Given the description of an element on the screen output the (x, y) to click on. 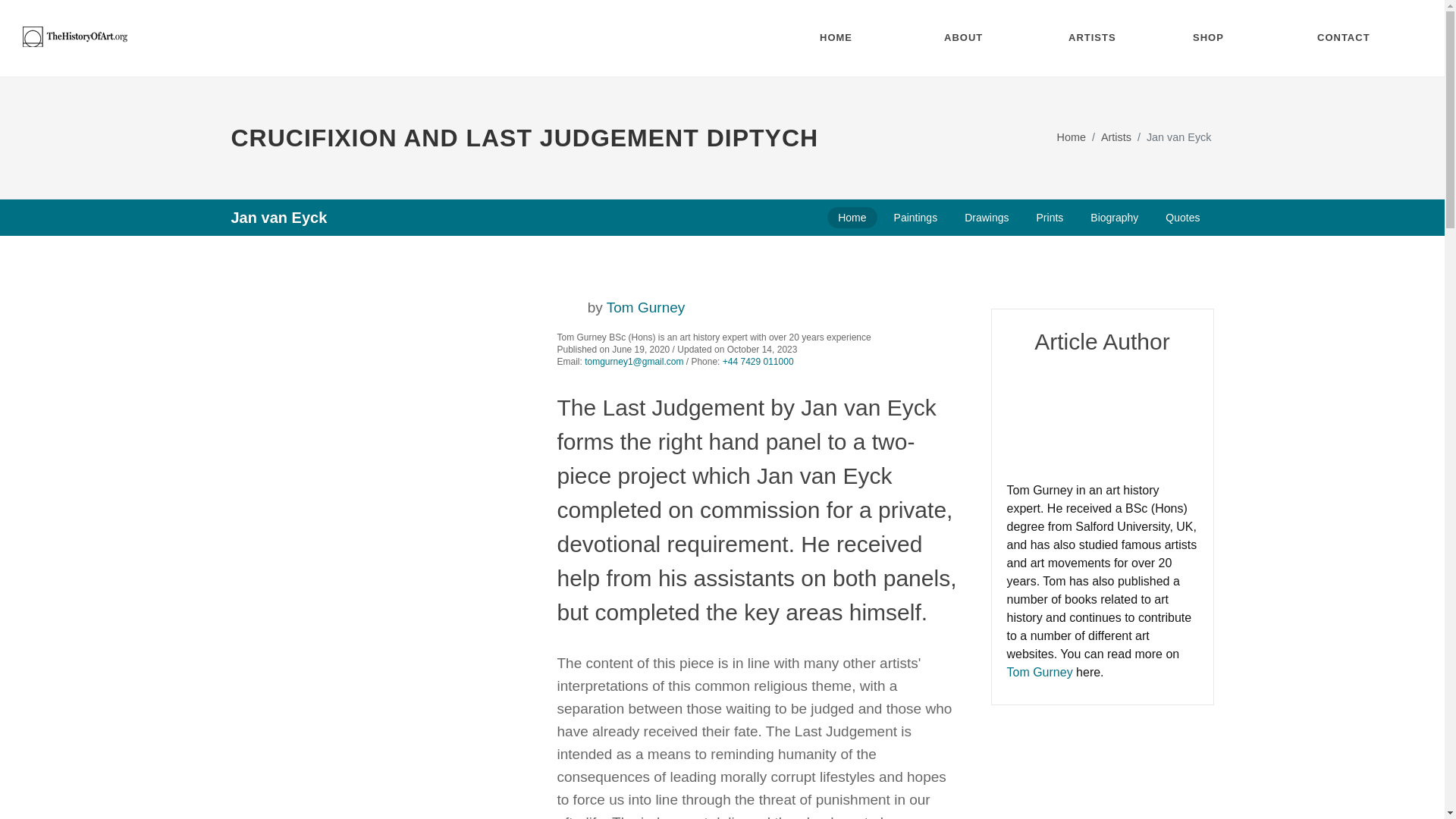
ABOUT (975, 38)
HOME (850, 38)
ARTISTS (1099, 38)
